Given the description of an element on the screen output the (x, y) to click on. 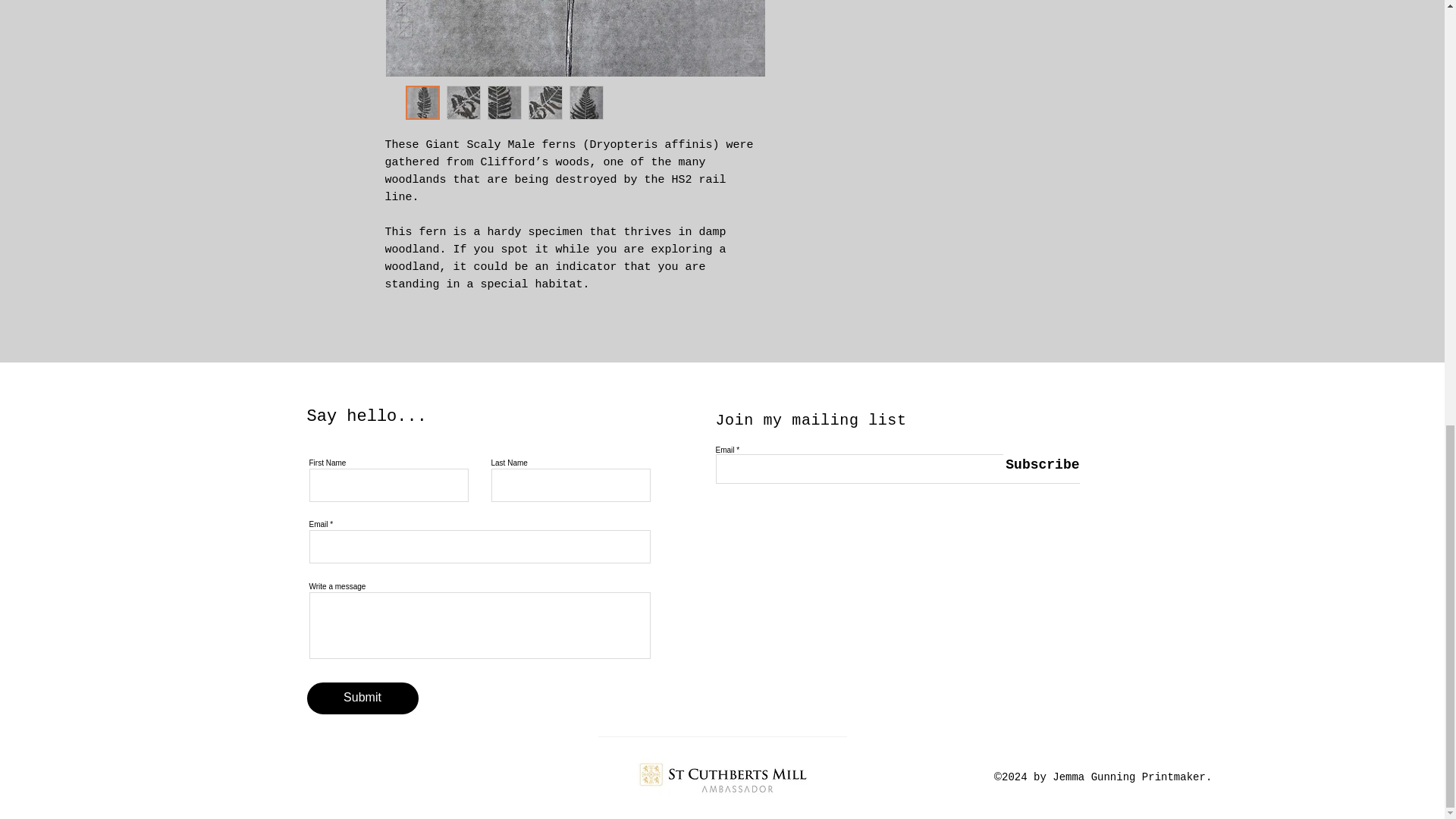
Submit (361, 698)
Subscribe (1040, 465)
